Given the description of an element on the screen output the (x, y) to click on. 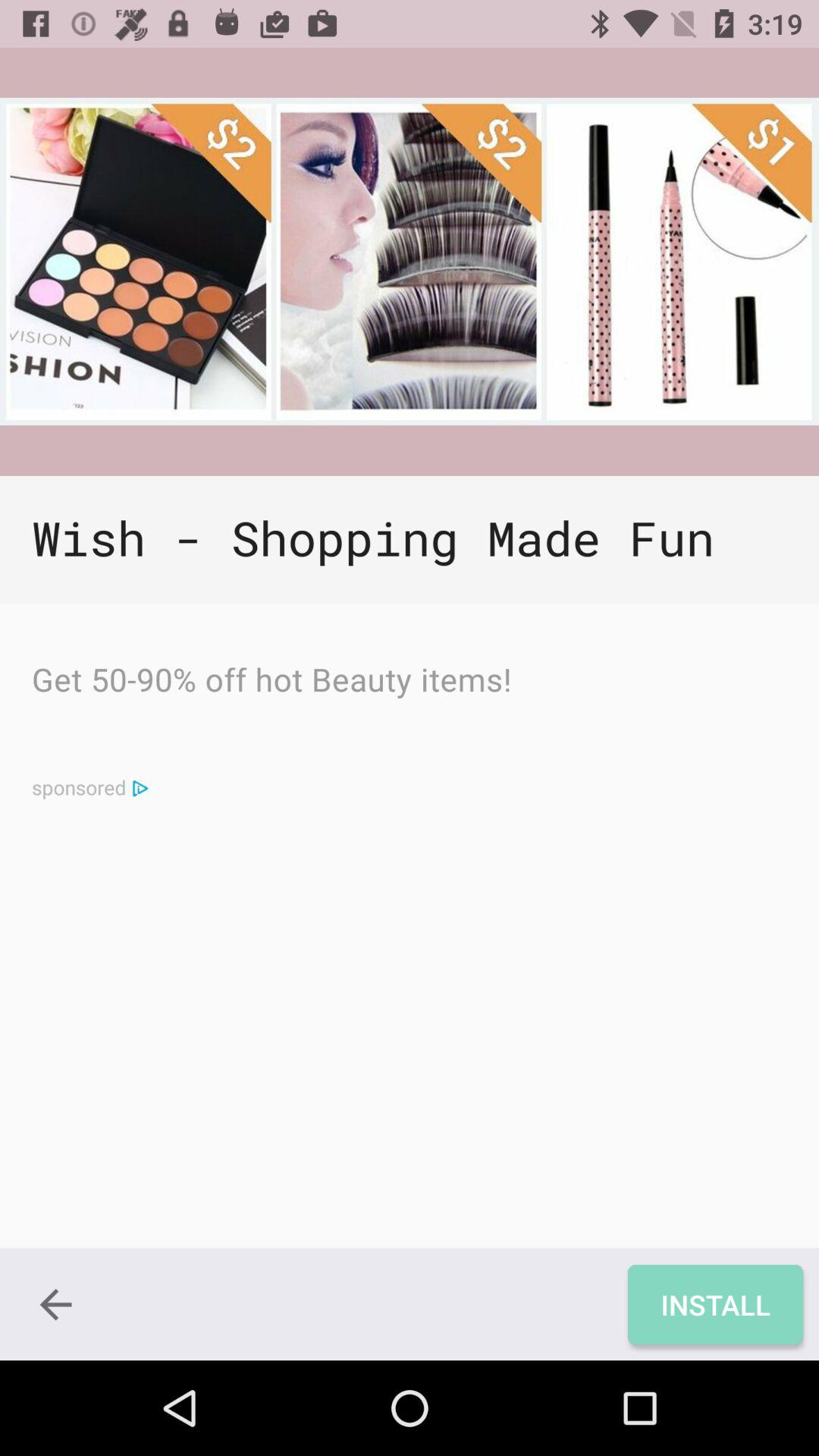
launch the icon below the get 50 90 (140, 787)
